Given the description of an element on the screen output the (x, y) to click on. 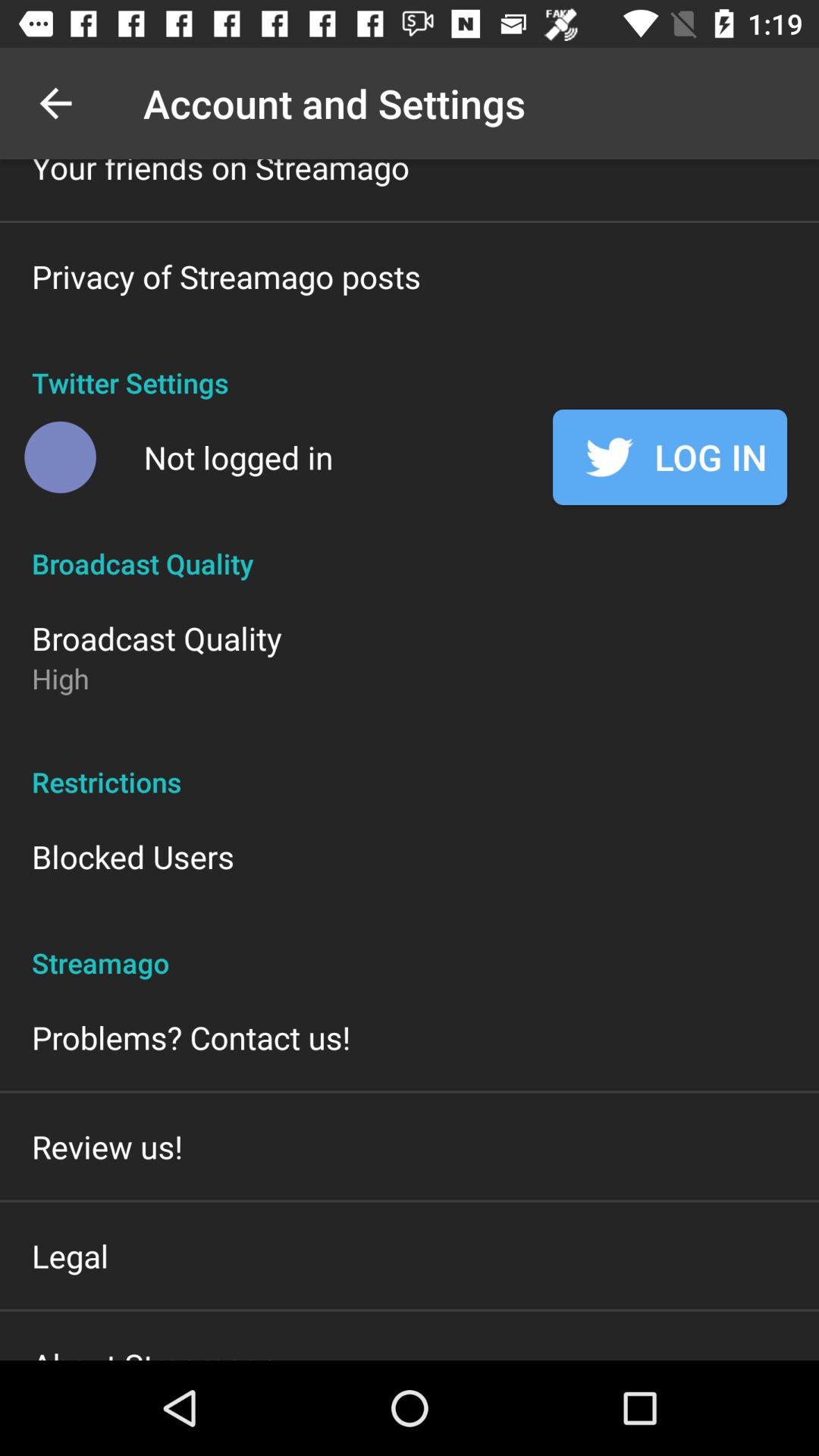
choose the icon next to account and settings icon (55, 103)
